Given the description of an element on the screen output the (x, y) to click on. 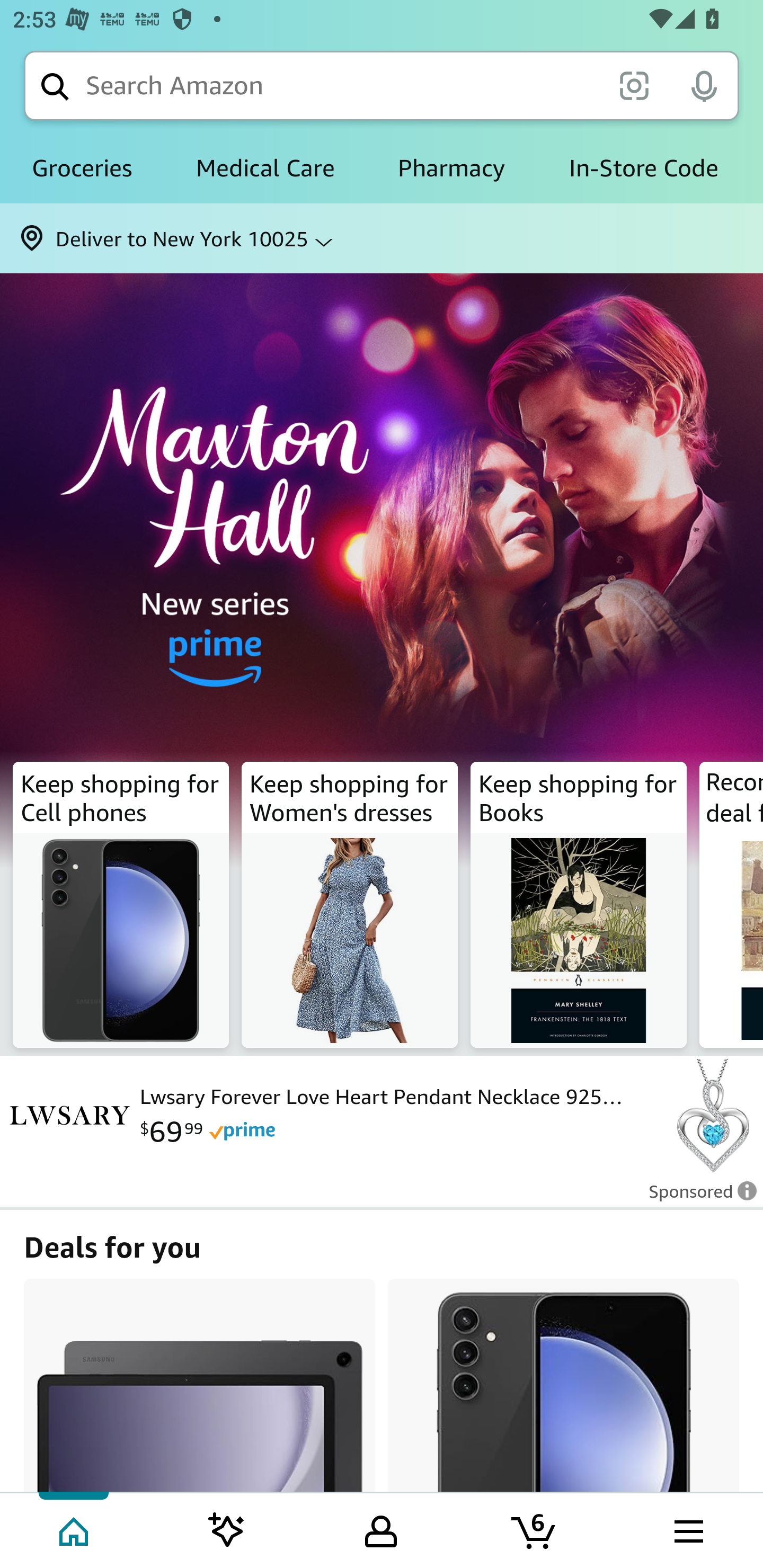
scan it (633, 85)
Groceries (82, 168)
Medical Care (265, 168)
Pharmacy (451, 168)
In-Store Code (643, 168)
Deliver to New York 10025 ⌵ (381, 237)
Keep shopping for Books Keep shopping for Books (578, 904)
Leave feedback on Sponsored ad Sponsored  (696, 1196)
Home Tab 1 of 5 (75, 1529)
Inspire feed Tab 2 of 5 (227, 1529)
Your Amazon.com Tab 3 of 5 (380, 1529)
Cart 6 items Tab 4 of 5 6 (534, 1529)
Browse menu Tab 5 of 5 (687, 1529)
